Given the description of an element on the screen output the (x, y) to click on. 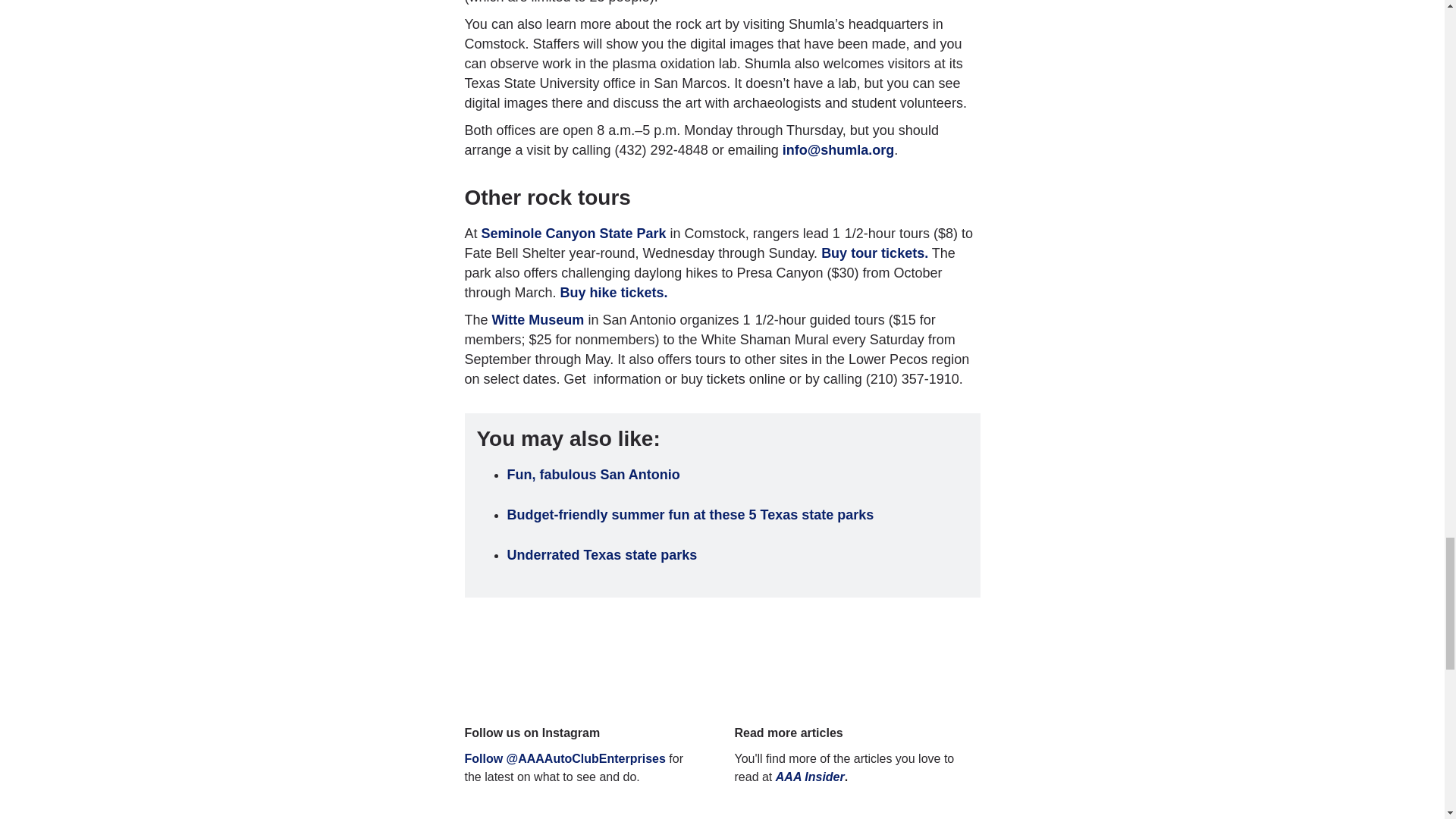
AAA Auto Club Enterprises Instagram profile (564, 758)
Buy tickets to tour Fate Bell Shelter  (874, 253)
Read an article on San Antonio (592, 474)
Learn more about Seminole Canyon State Park (573, 233)
Read an article on underrated Texas state parks (601, 554)
Browse articles on AAA Insider (810, 776)
Buy tickets for a guided hike of Presa Canyon (614, 292)
Witte Museum website (538, 319)
